Given the description of an element on the screen output the (x, y) to click on. 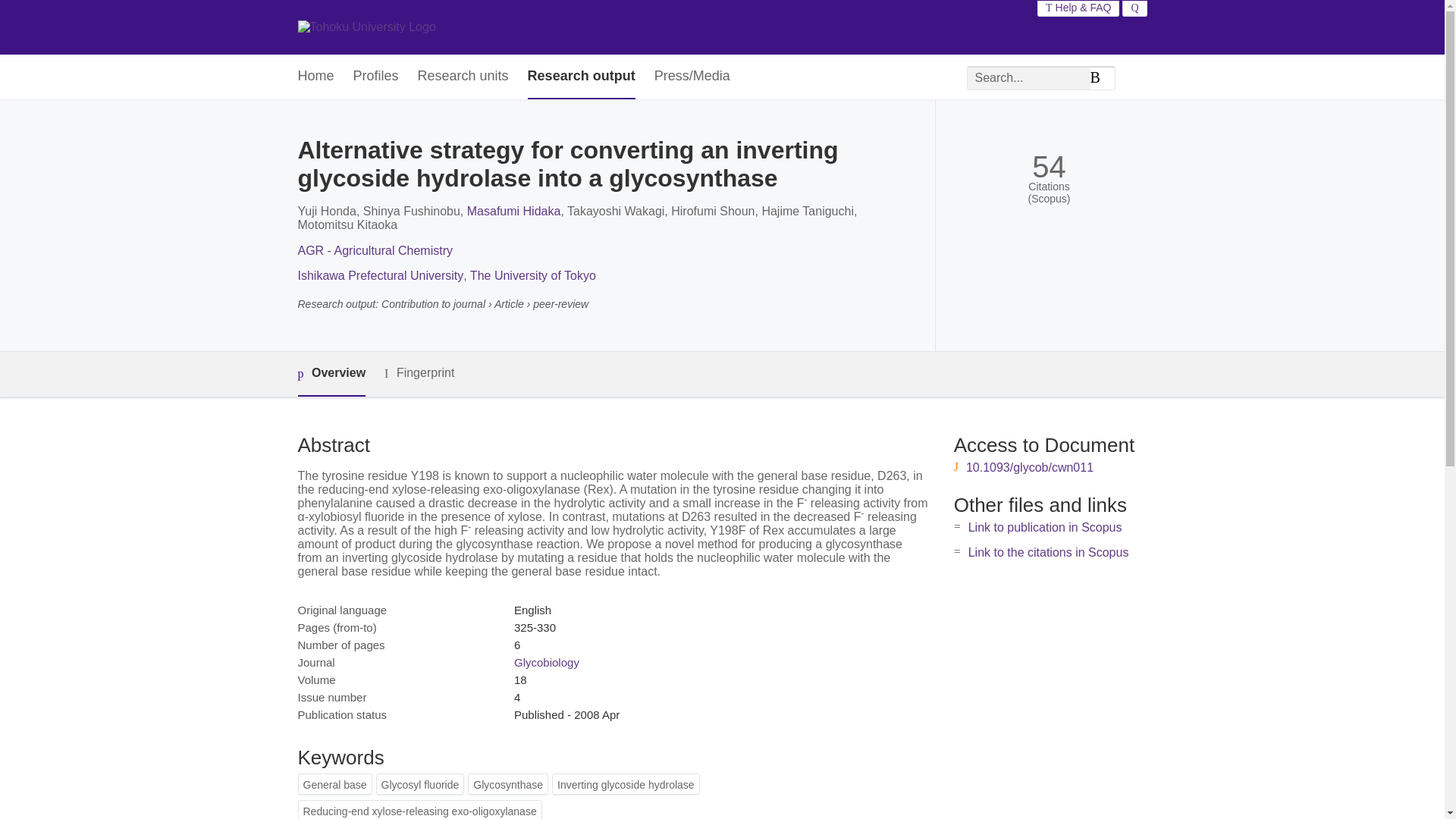
Research units (462, 76)
Fingerprint (419, 373)
Tohoku University Home (366, 27)
Overview (331, 374)
The University of Tokyo (532, 275)
Glycobiology (546, 662)
Research output (580, 76)
Profiles (375, 76)
Masafumi Hidaka (513, 210)
